Given the description of an element on the screen output the (x, y) to click on. 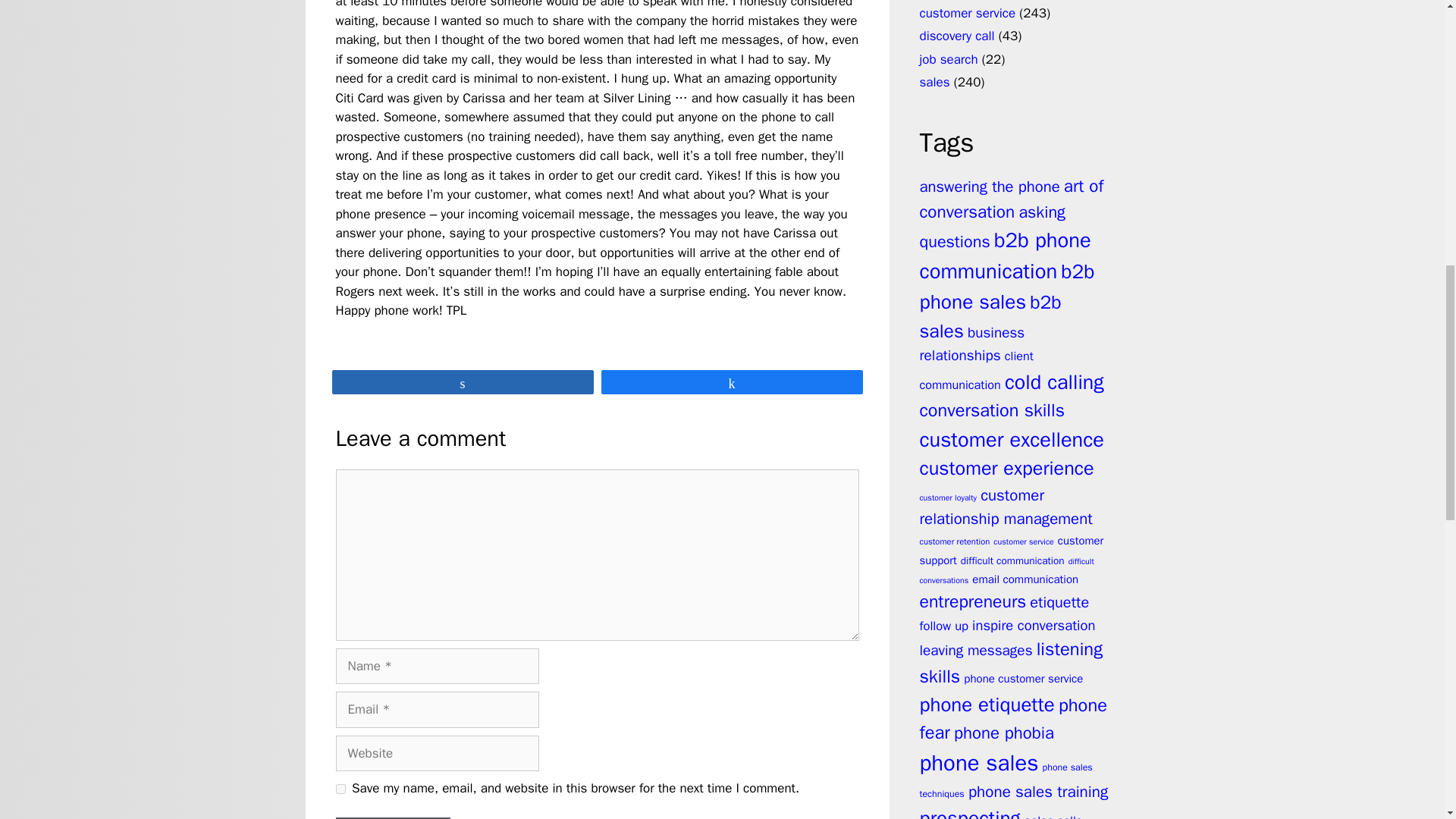
yes (339, 788)
Scroll back to top (1406, 720)
Post Comment (391, 818)
Post Comment (391, 818)
